Given the description of an element on the screen output the (x, y) to click on. 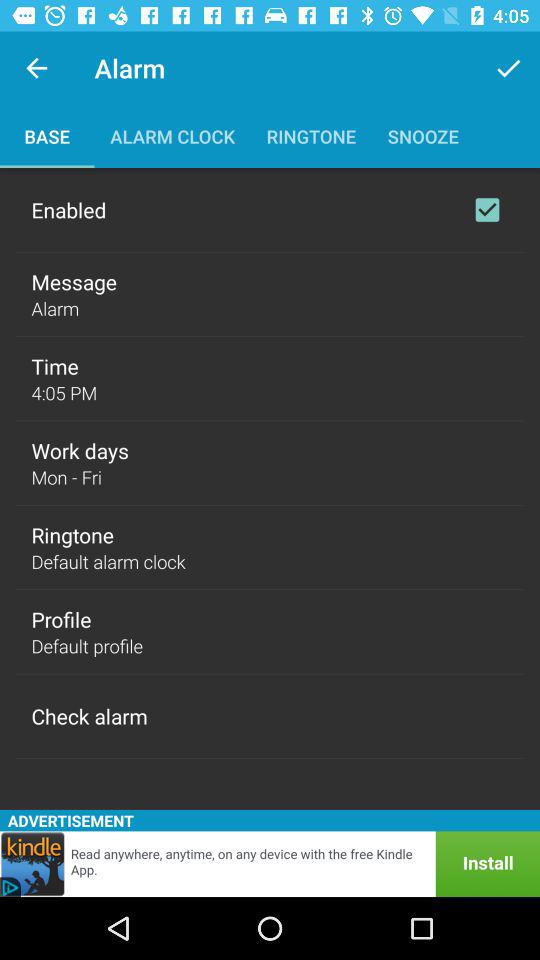
select the item next to alarm item (36, 68)
